Given the description of an element on the screen output the (x, y) to click on. 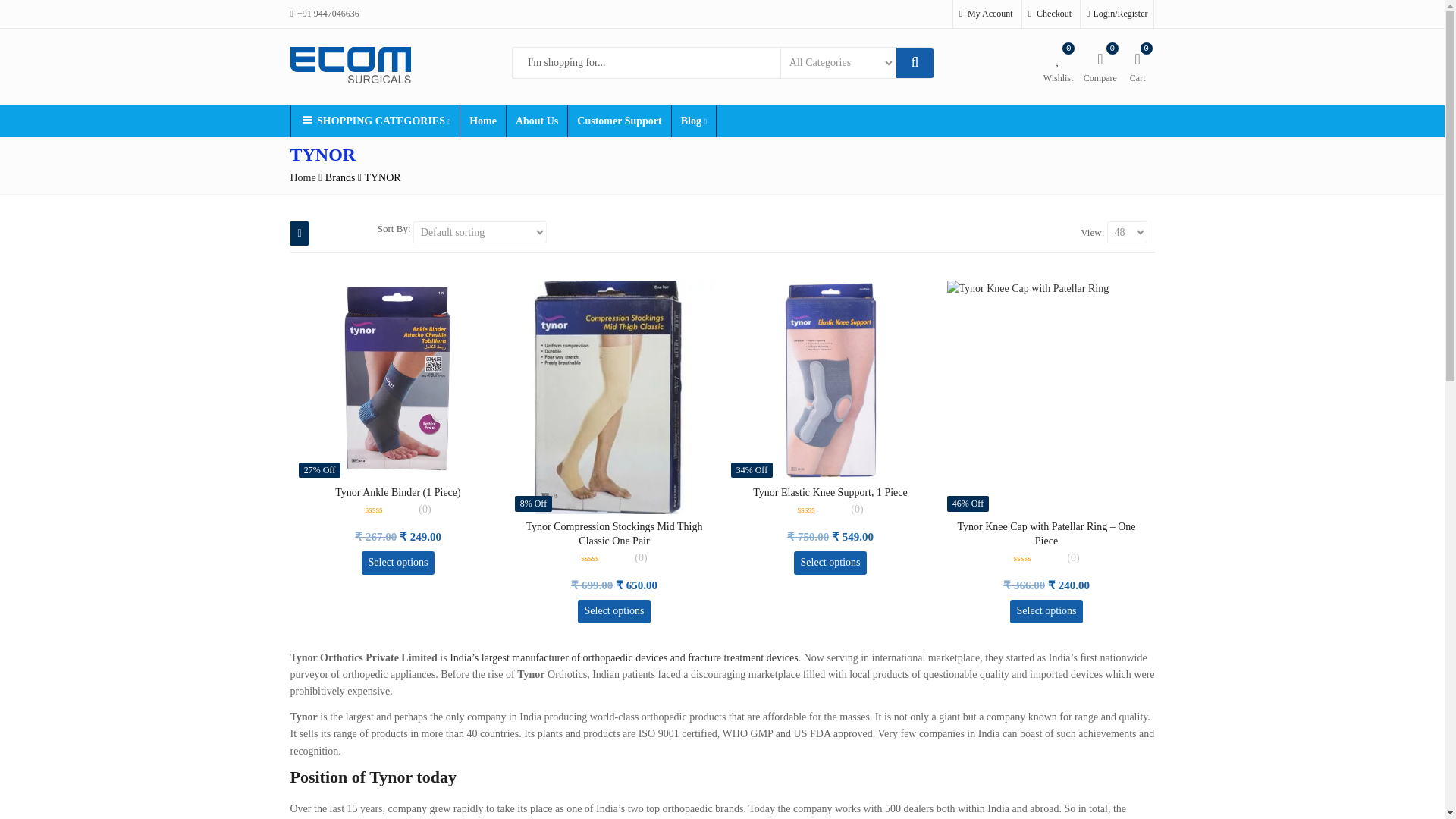
0 (389, 509)
0 (820, 509)
0 (1037, 557)
yith woocompare (1100, 65)
0 (605, 557)
